Given the description of an element on the screen output the (x, y) to click on. 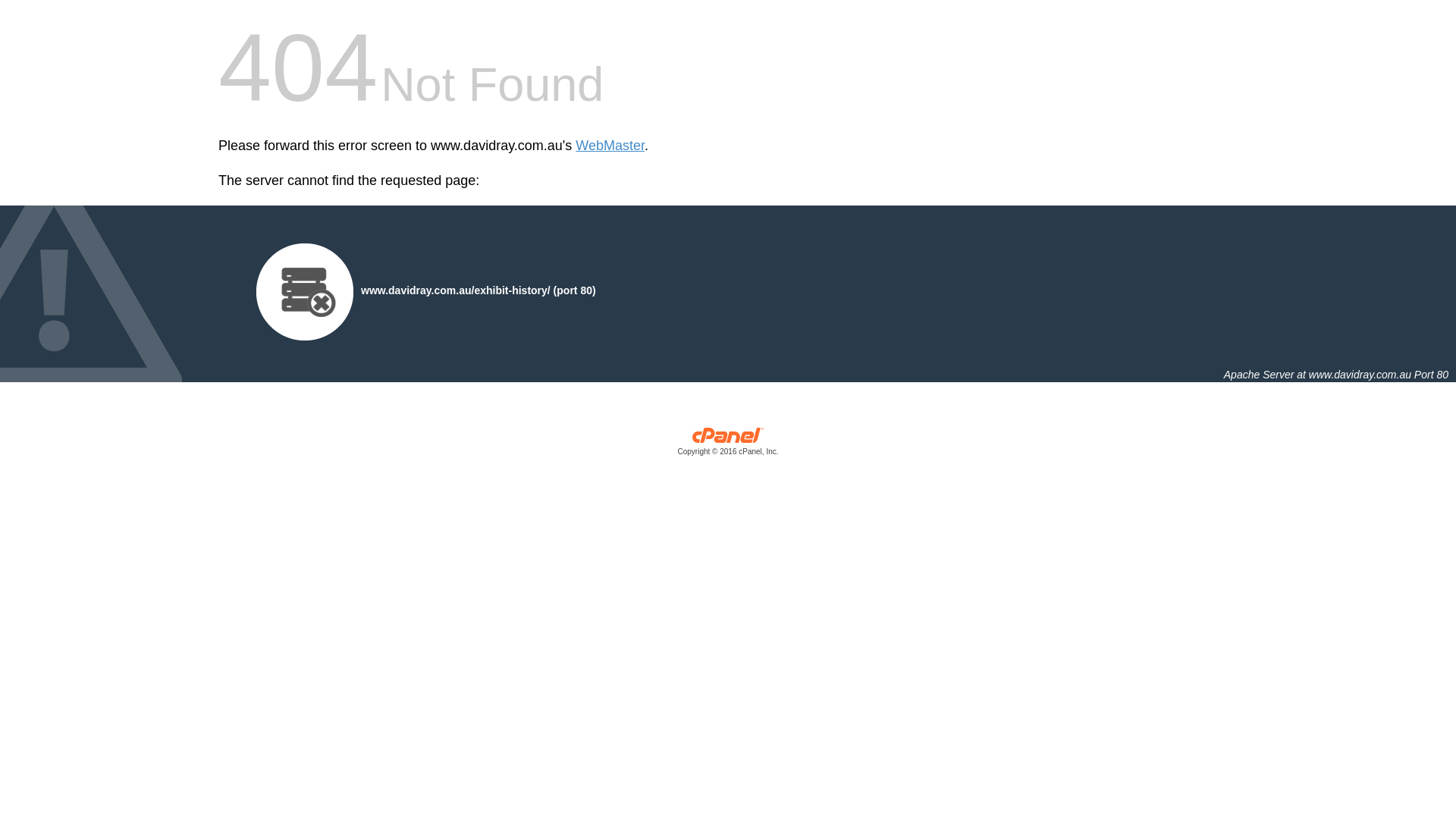
WebMaster Element type: text (609, 145)
